Given the description of an element on the screen output the (x, y) to click on. 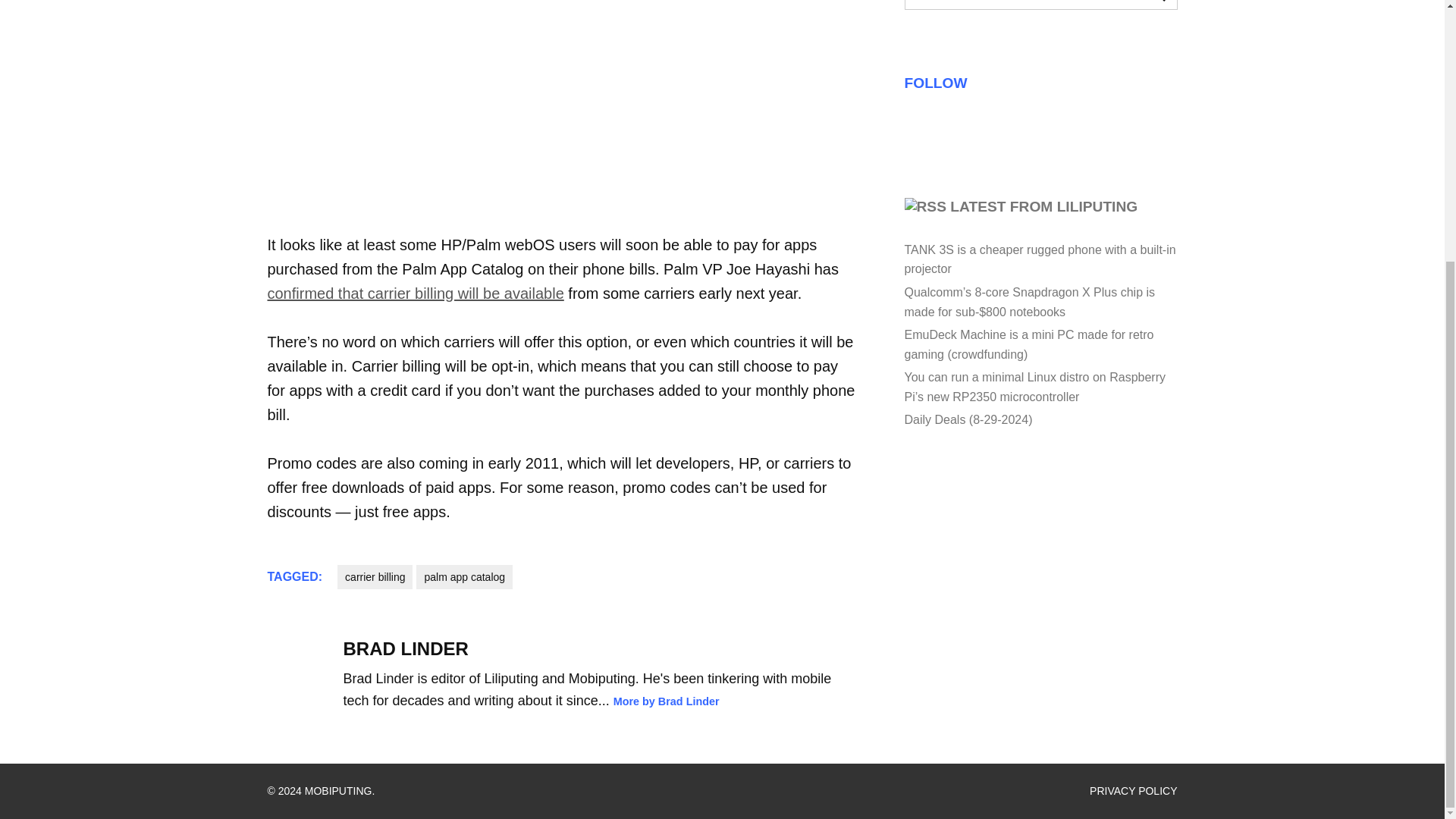
More by Brad Linder (665, 701)
palm app catalog (464, 576)
Search (1156, 4)
app catalog (563, 116)
confirmed that carrier billing will be available (414, 293)
carrier billing (374, 576)
